Given the description of an element on the screen output the (x, y) to click on. 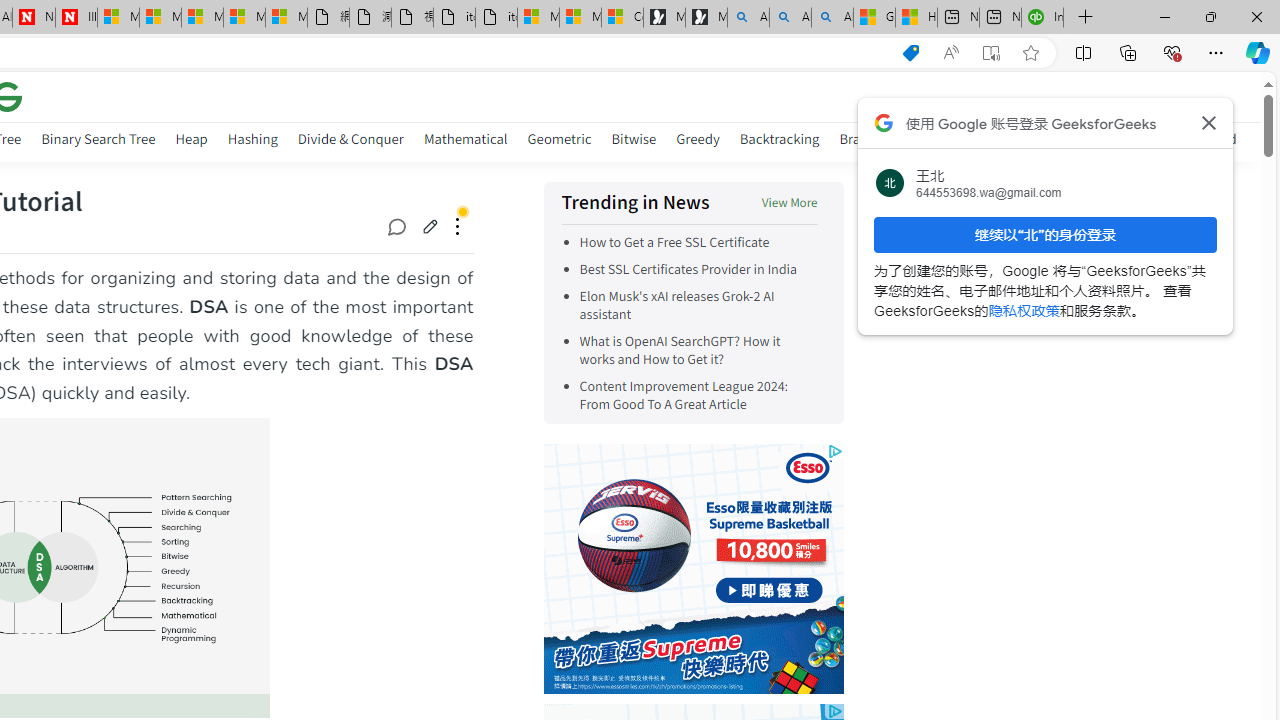
How to Get a Free SSL Certificate (674, 242)
Pattern Searching (1085, 138)
Hashing (252, 142)
Geometric (559, 138)
What is OpenAI SearchGPT? How it works and How to Get it? (697, 350)
Heap (191, 138)
Divide & Conquer (349, 138)
Mathematical (465, 142)
Alabama high school quarterback dies - Search Videos (831, 17)
What is OpenAI SearchGPT? How it works and How to Get it? (679, 350)
